Given the description of an element on the screen output the (x, y) to click on. 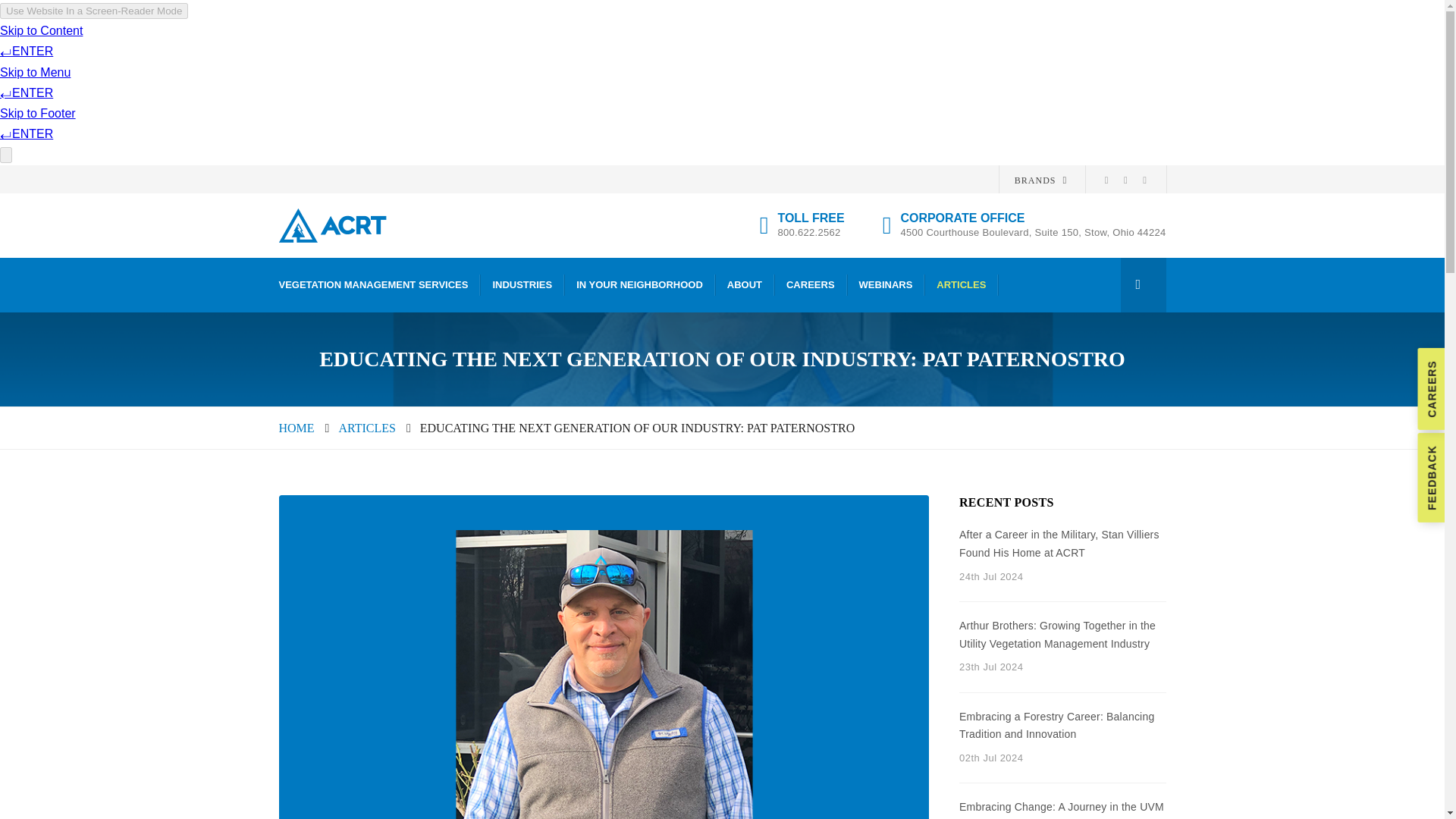
BRANDS (1040, 179)
800.622.2562 (808, 232)
4500 Courthouse Boulevard, Suite 150, Stow, Ohio 44224 (1032, 232)
CORPORATE OFFICE (1032, 218)
TOLL FREE (810, 218)
